Given the description of an element on the screen output the (x, y) to click on. 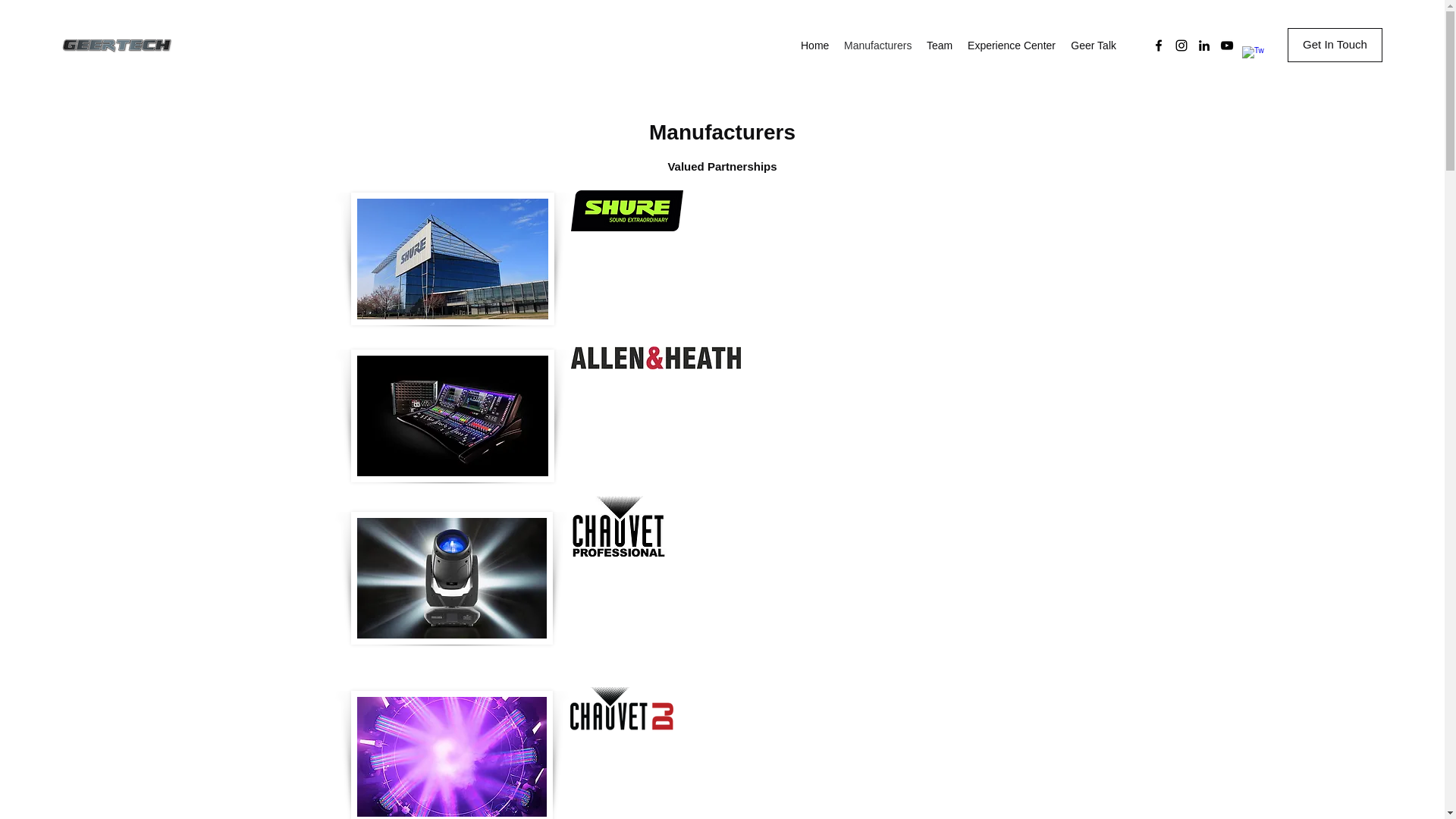
Get In Touch (1334, 44)
Manufacturers (876, 45)
Experience Center (1010, 45)
Geer Talk (1093, 45)
Home (814, 45)
Team (938, 45)
